Given the description of an element on the screen output the (x, y) to click on. 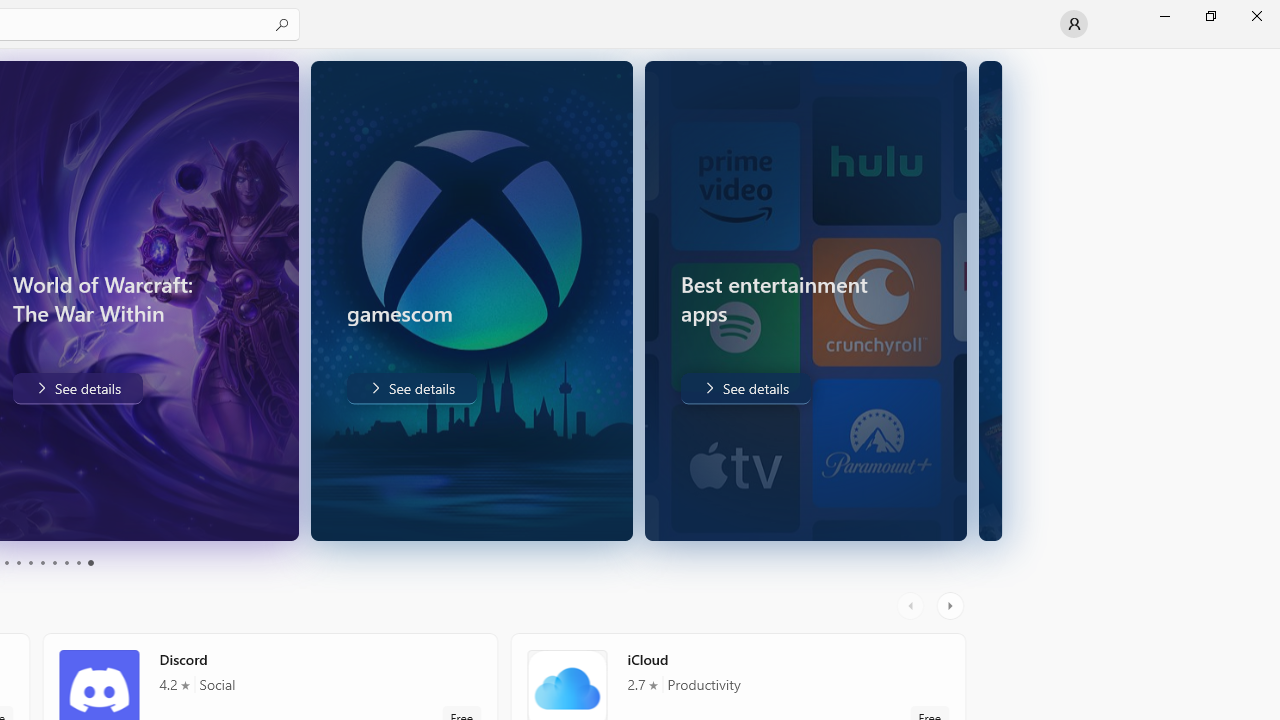
Page 5 (29, 562)
AutomationID: RightScrollButton (952, 606)
Page 10 (90, 562)
Page 8 (65, 562)
gamescom. See the best of the show.  . See details (79, 387)
AutomationID: Image (991, 300)
Page 9 (77, 562)
Page 4 (17, 562)
Close Microsoft Store (1256, 15)
Page 6 (41, 562)
Page 3 (5, 562)
Page 7 (54, 562)
Restore Microsoft Store (1210, 15)
Minimize Microsoft Store (1164, 15)
